Given the description of an element on the screen output the (x, y) to click on. 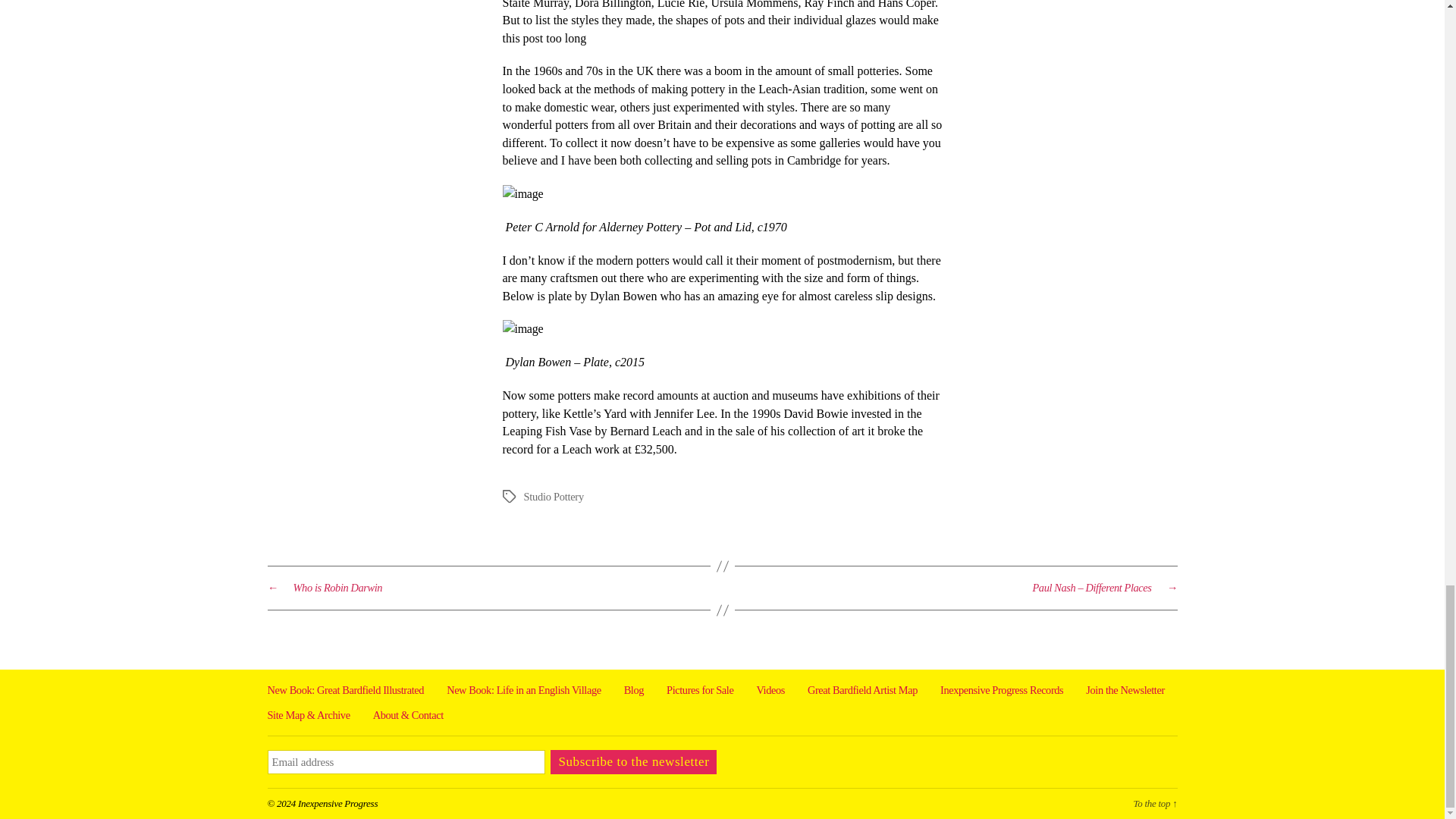
Subscribe to the newsletter (633, 761)
New Book: Great Bardfield Illustrated (344, 689)
Videos (769, 689)
Subscribe to the newsletter (633, 761)
Join the Newsletter (1125, 689)
New Book: Life in an English Village (523, 689)
Pictures for Sale (699, 689)
Great Bardfield Artist Map (862, 689)
Inexpensive Progress Records (1001, 689)
Blog (633, 689)
